Given the description of an element on the screen output the (x, y) to click on. 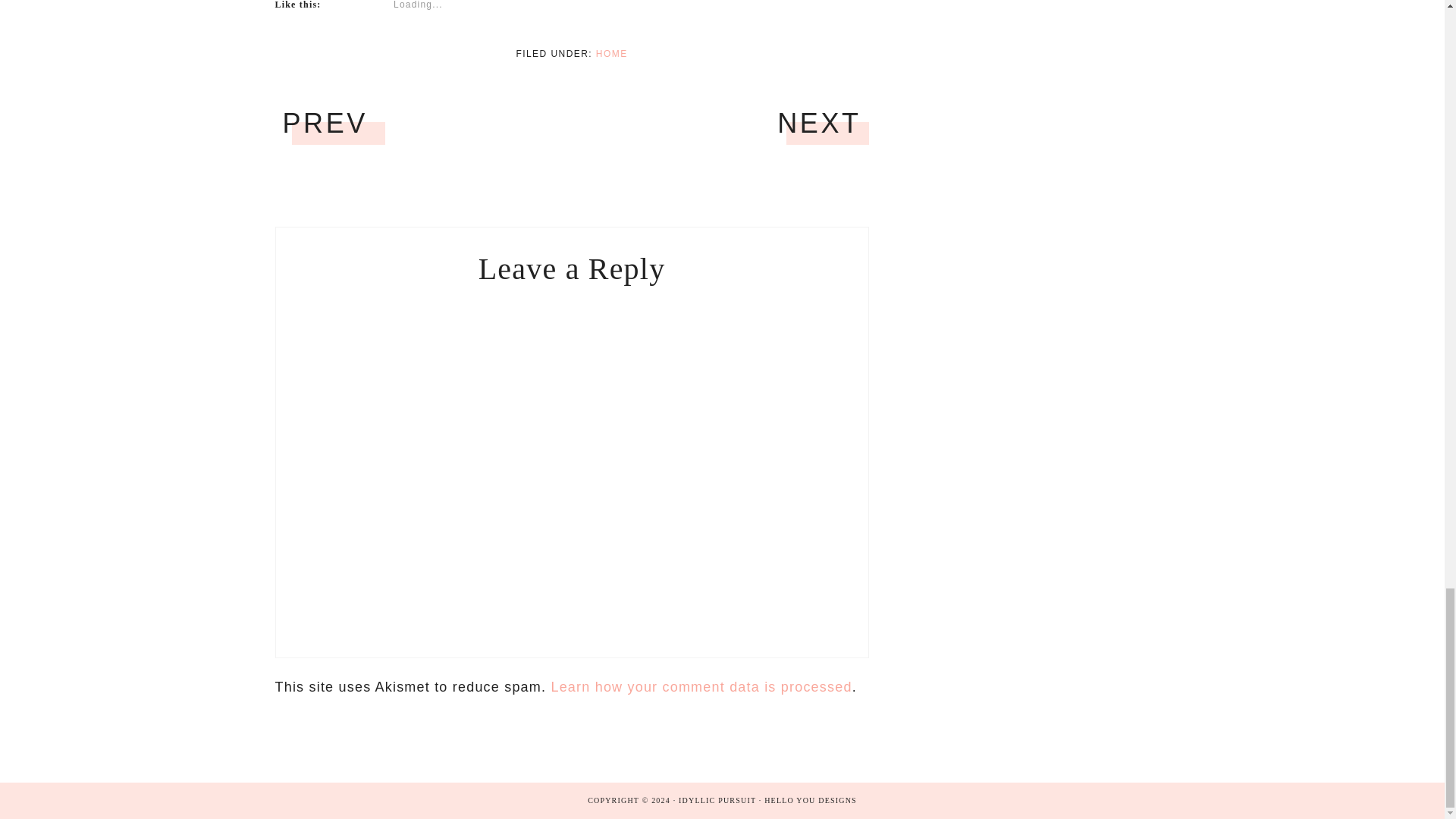
NEXT (818, 122)
HELLO YOU DESIGNS (810, 800)
Learn how your comment data is processed (700, 686)
HOME (611, 53)
PREV (324, 122)
